Given the description of an element on the screen output the (x, y) to click on. 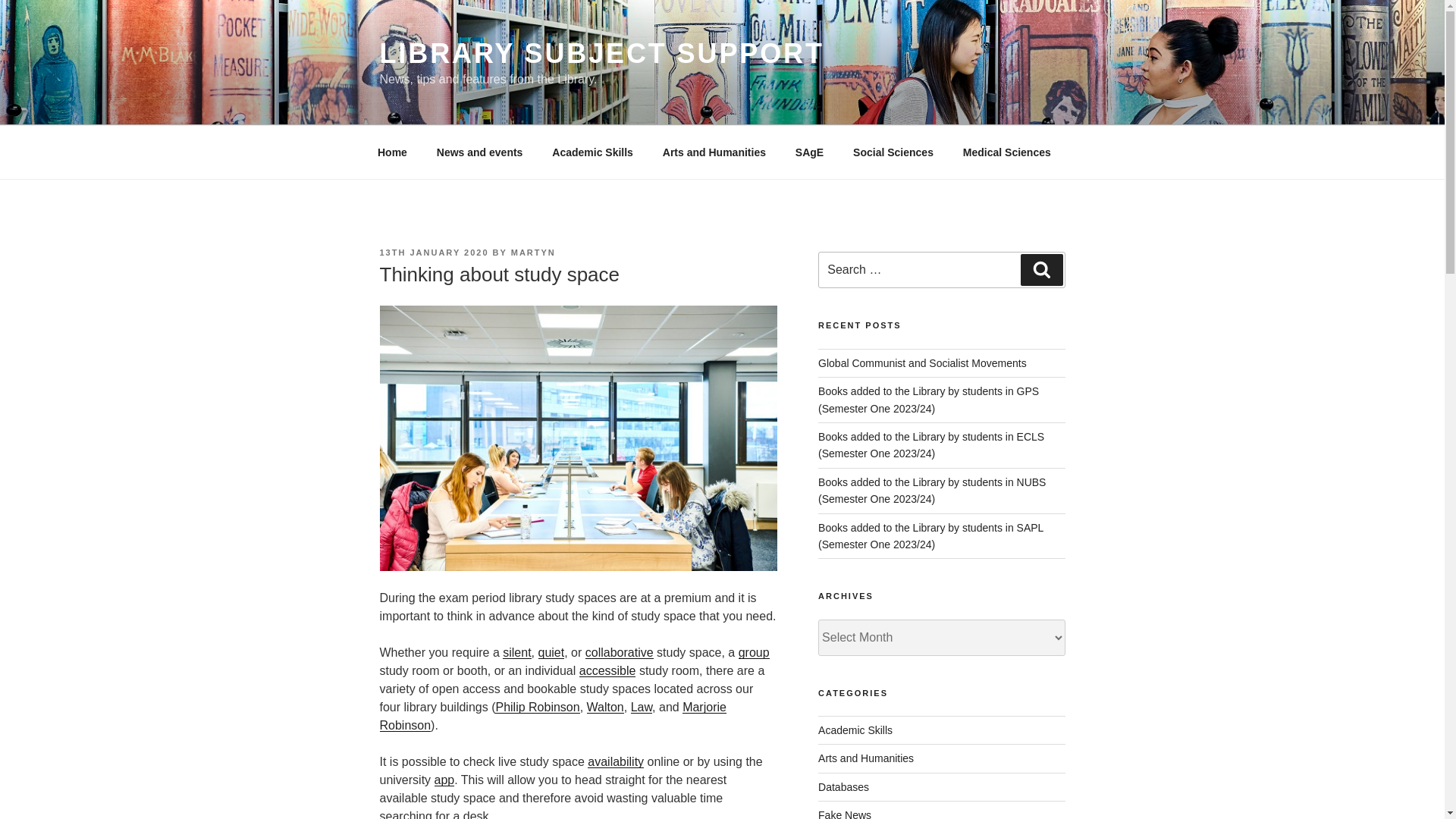
app (443, 779)
Social Sciences (893, 151)
availability (615, 761)
Medical Sciences (1006, 151)
Walton (605, 707)
collaborative (619, 652)
quiet (551, 652)
Academic Skills (592, 151)
silent (516, 652)
SAgE (808, 151)
News and events (479, 151)
13TH JANUARY 2020 (432, 252)
LIBRARY SUBJECT SUPPORT (601, 52)
MARTYN (533, 252)
Philip Robinson (537, 707)
